Given the description of an element on the screen output the (x, y) to click on. 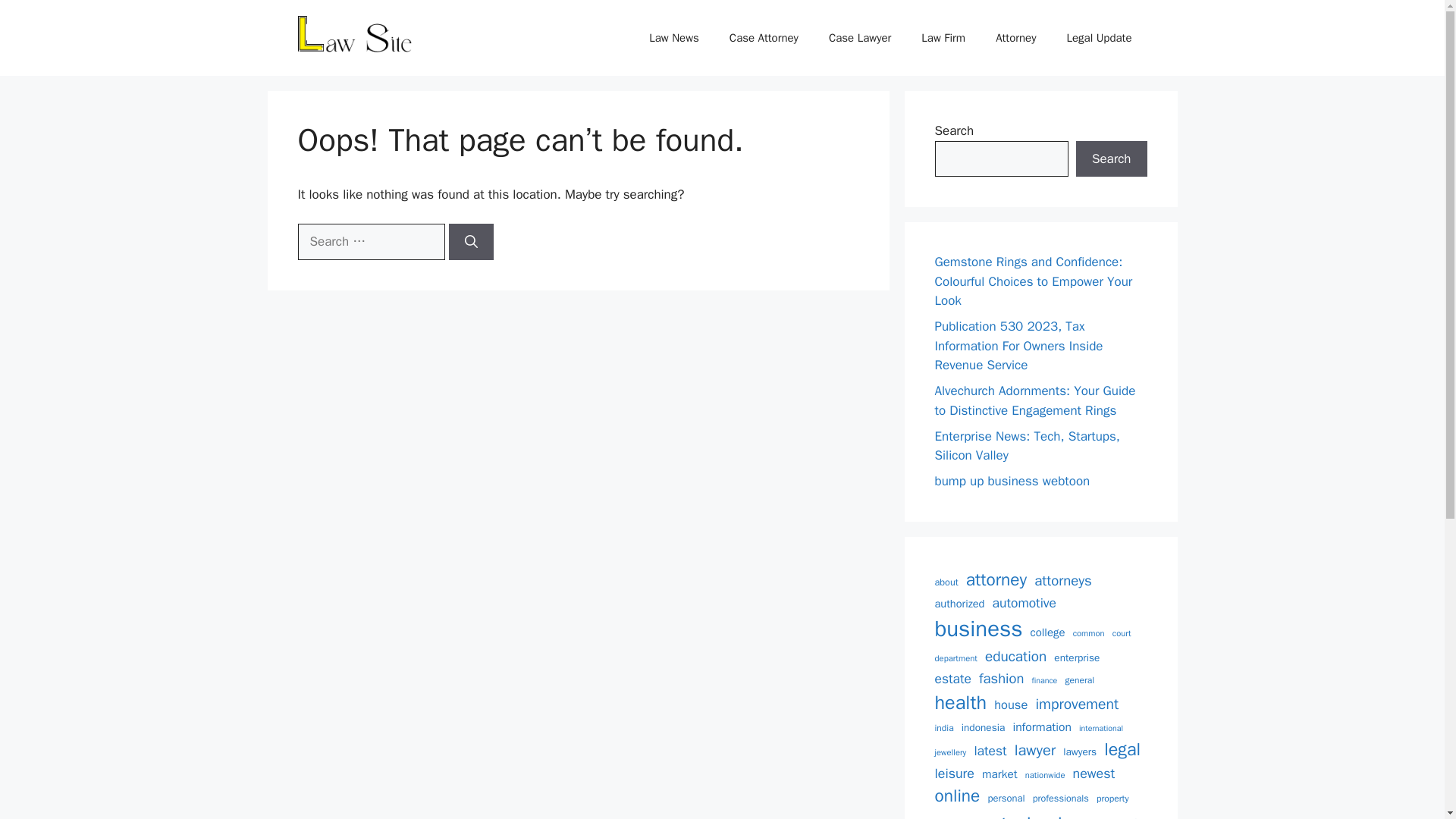
enterprise (1076, 657)
Case Attorney (763, 37)
house (1010, 705)
estate (952, 678)
Search (1111, 158)
Law Firm (942, 37)
Attorney (1015, 37)
Case Lawyer (859, 37)
Enterprise News: Tech, Startups, Silicon Valley (1026, 445)
business (978, 629)
Search for: (370, 241)
finance (1043, 680)
department (955, 658)
